Given the description of an element on the screen output the (x, y) to click on. 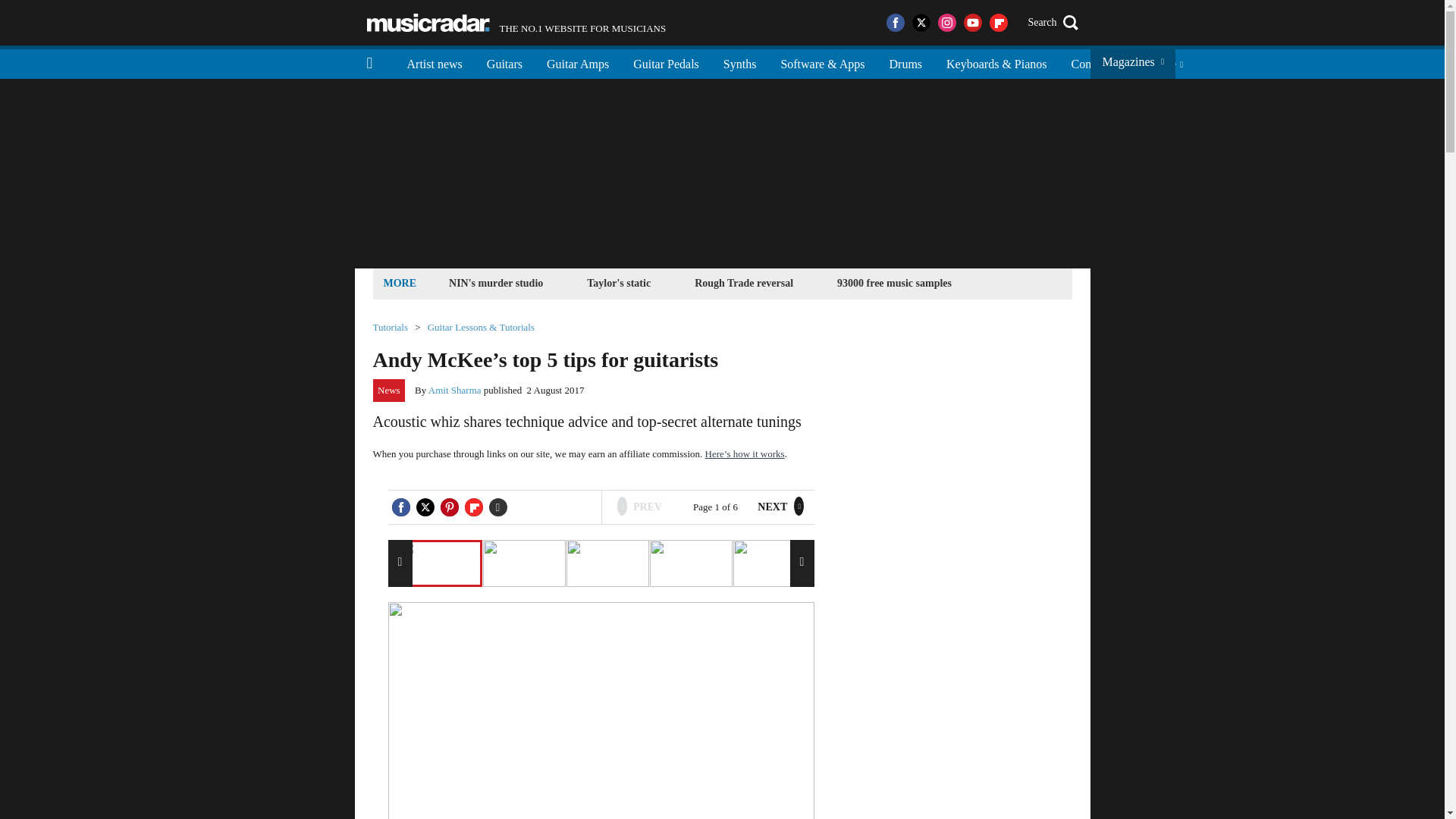
Drums (905, 61)
Rough Trade reversal (742, 282)
Artist news (434, 61)
Tutorials (516, 22)
Taylor's static (389, 327)
Guitar Pedals (618, 282)
Controllers (666, 61)
Guitars (1097, 61)
NIN's murder studio (504, 61)
